Given the description of an element on the screen output the (x, y) to click on. 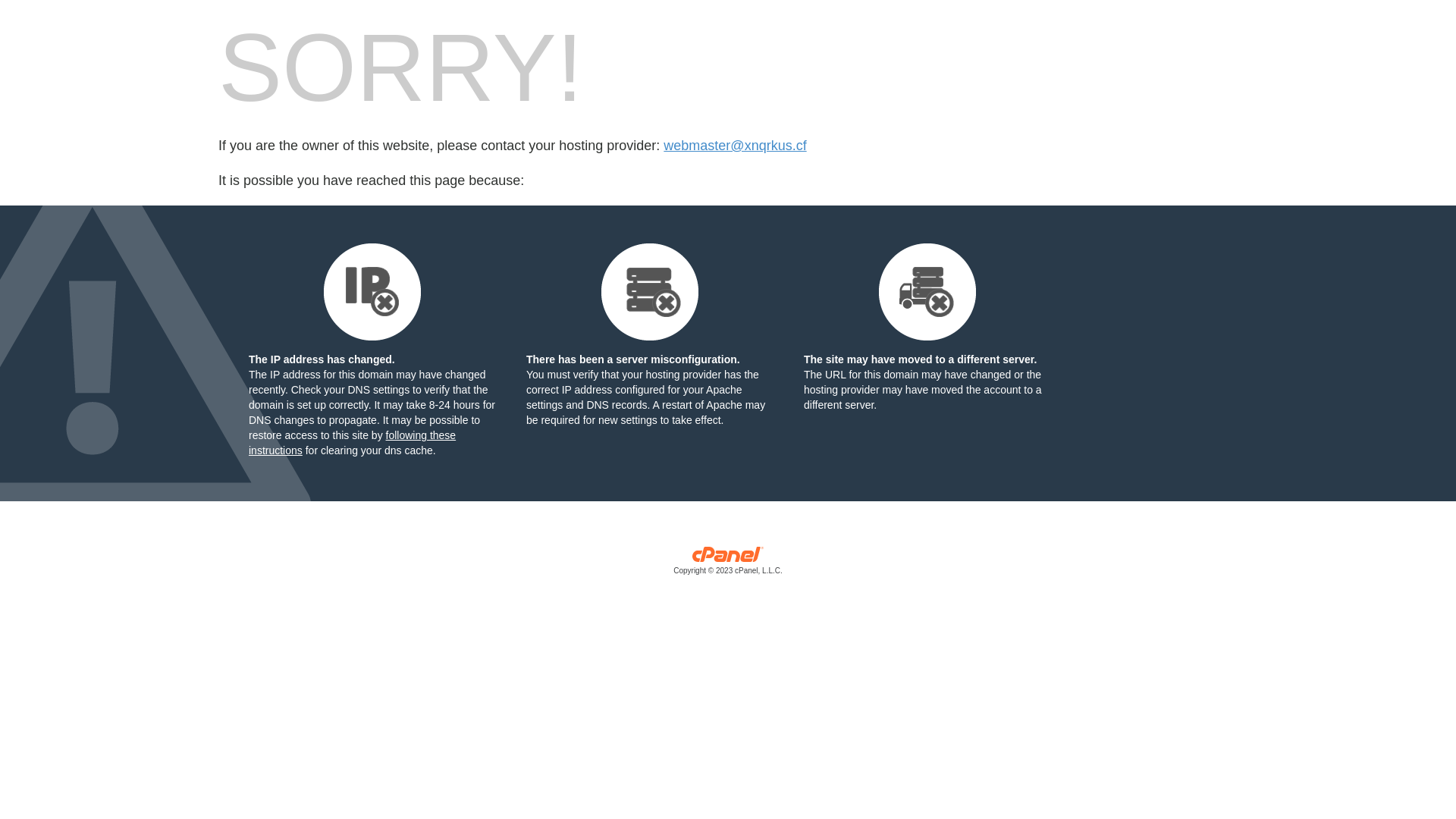
following these instructions Element type: text (351, 442)
webmaster@xnqrkus.cf Element type: text (734, 145)
